Given the description of an element on the screen output the (x, y) to click on. 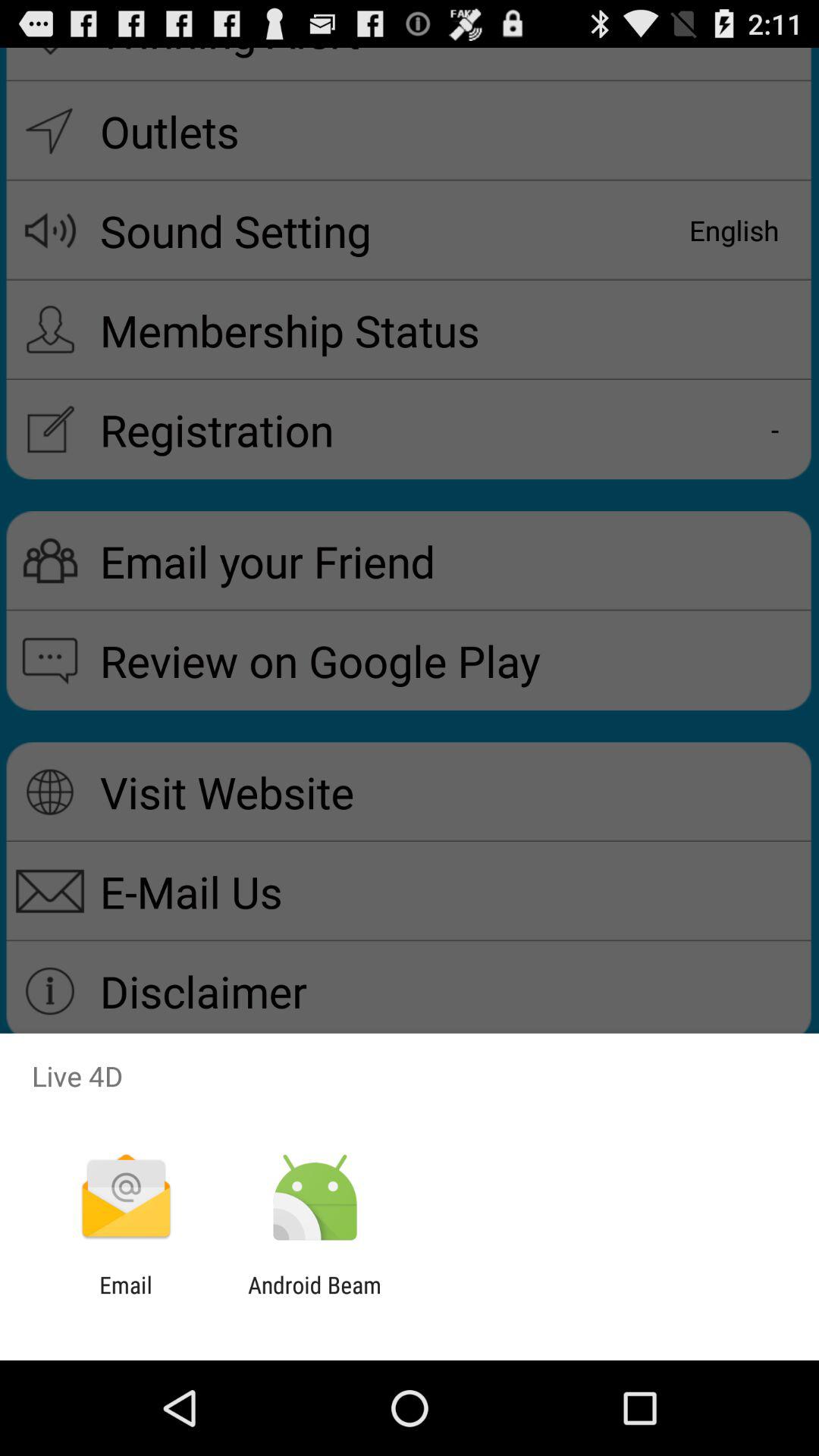
flip to android beam (314, 1298)
